Given the description of an element on the screen output the (x, y) to click on. 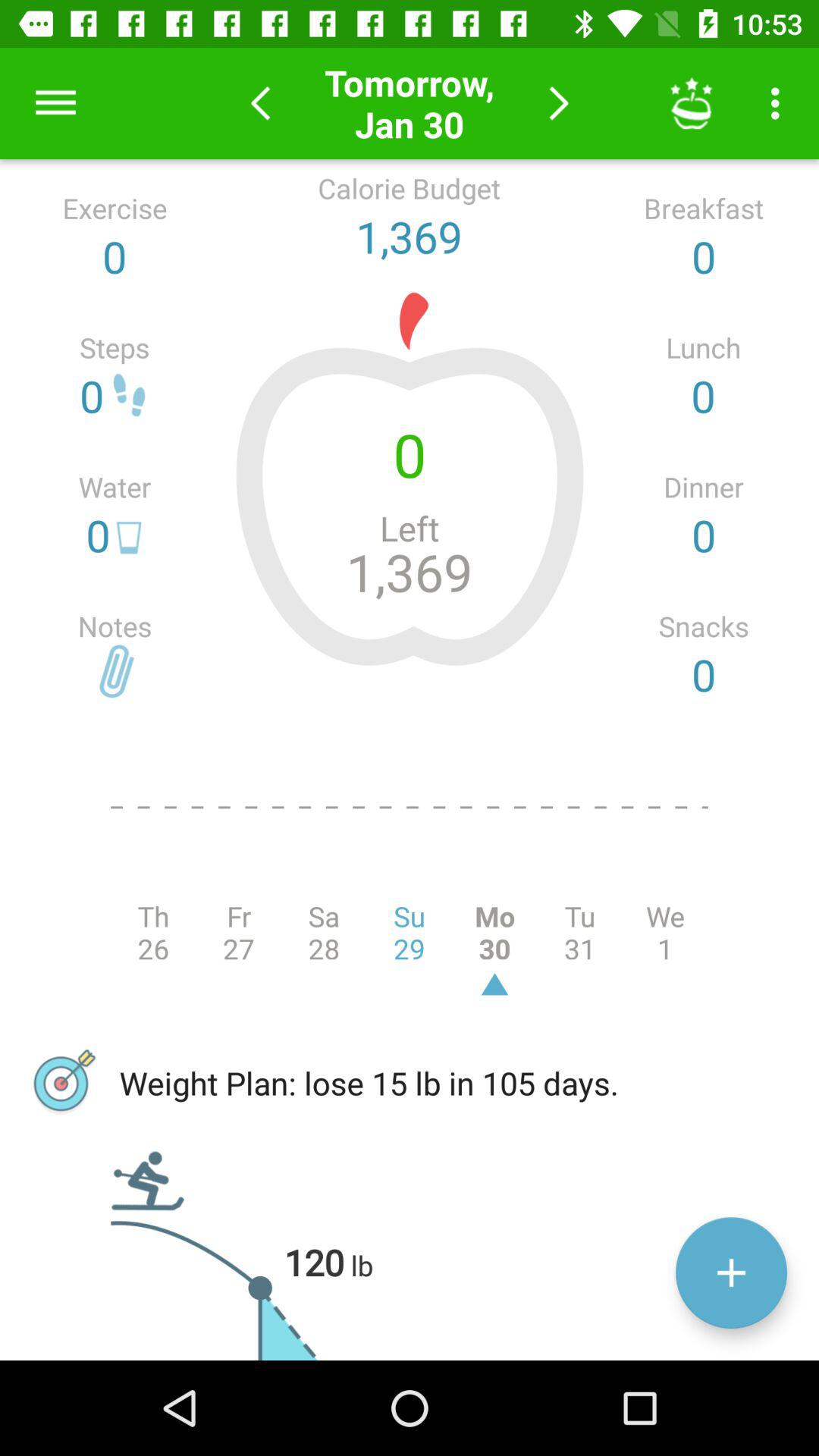
go to previous day (260, 103)
